Given the description of an element on the screen output the (x, y) to click on. 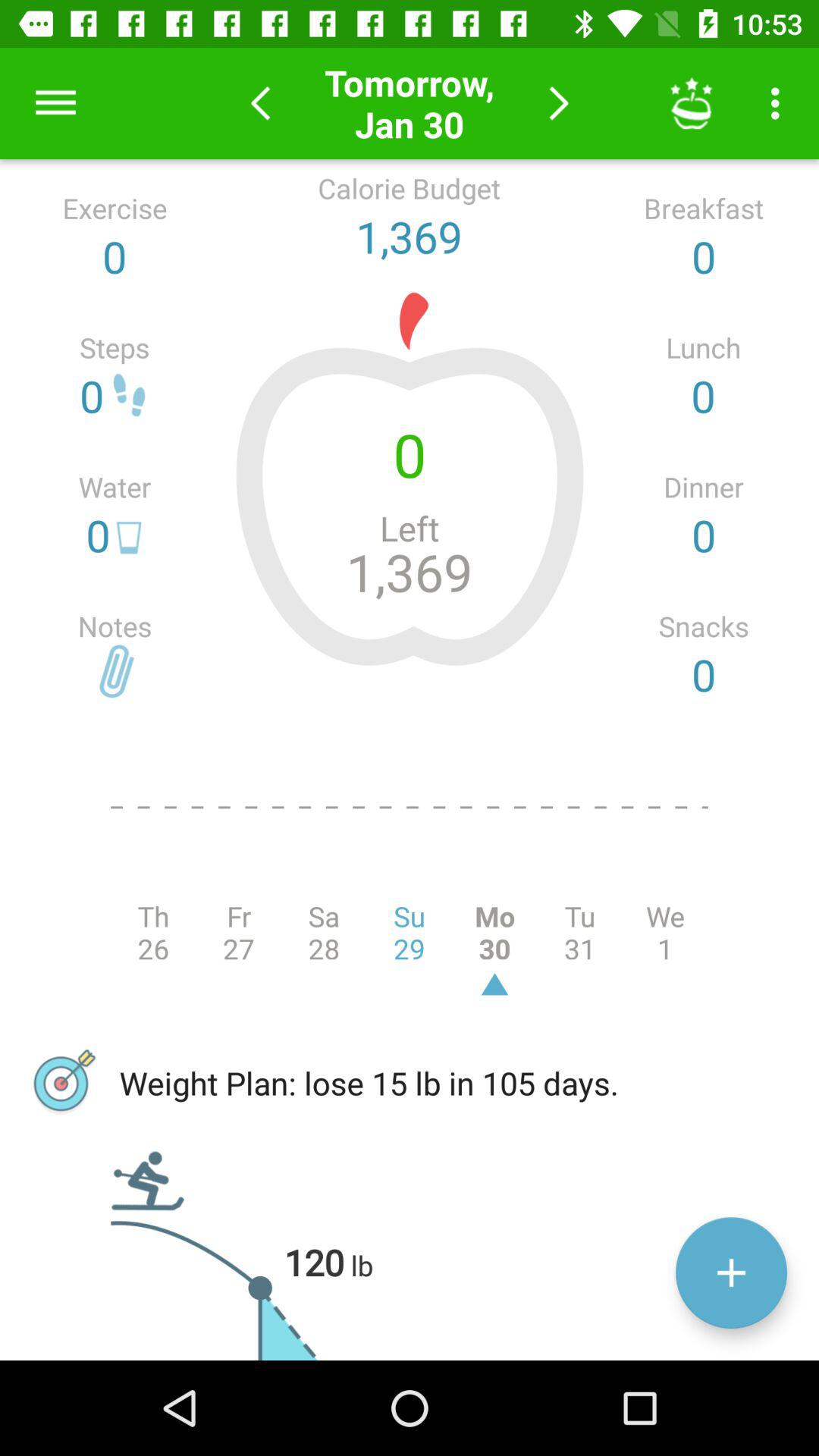
go to previous day (260, 103)
